Given the description of an element on the screen output the (x, y) to click on. 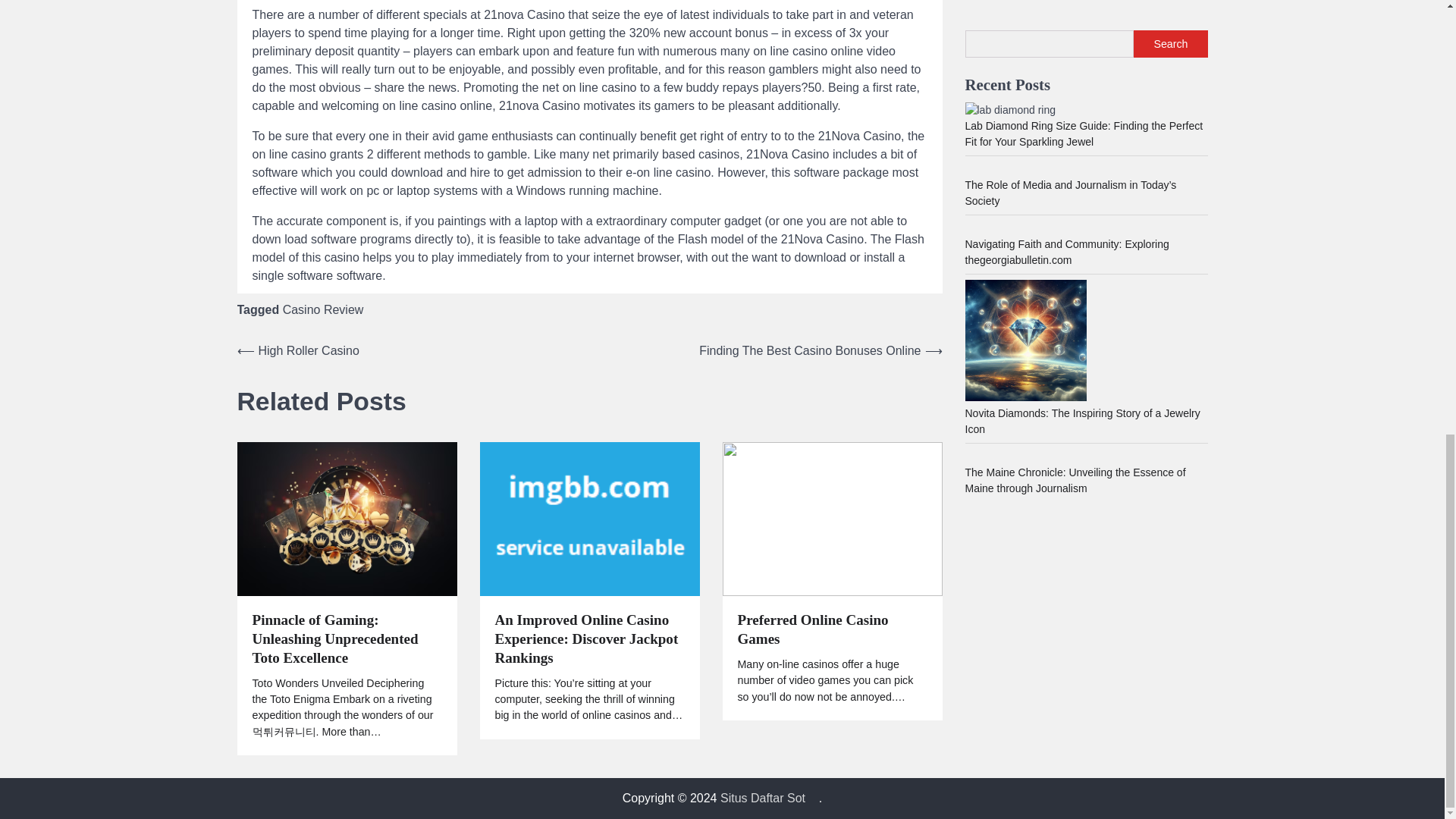
Preferred Online Casino Games (831, 629)
Situs Daftar Sot (762, 797)
Pinnacle of Gaming: Unleashing Unprecedented Toto Excellence (346, 638)
Jackpot Rankings (588, 519)
Casino Review (323, 309)
